Given the description of an element on the screen output the (x, y) to click on. 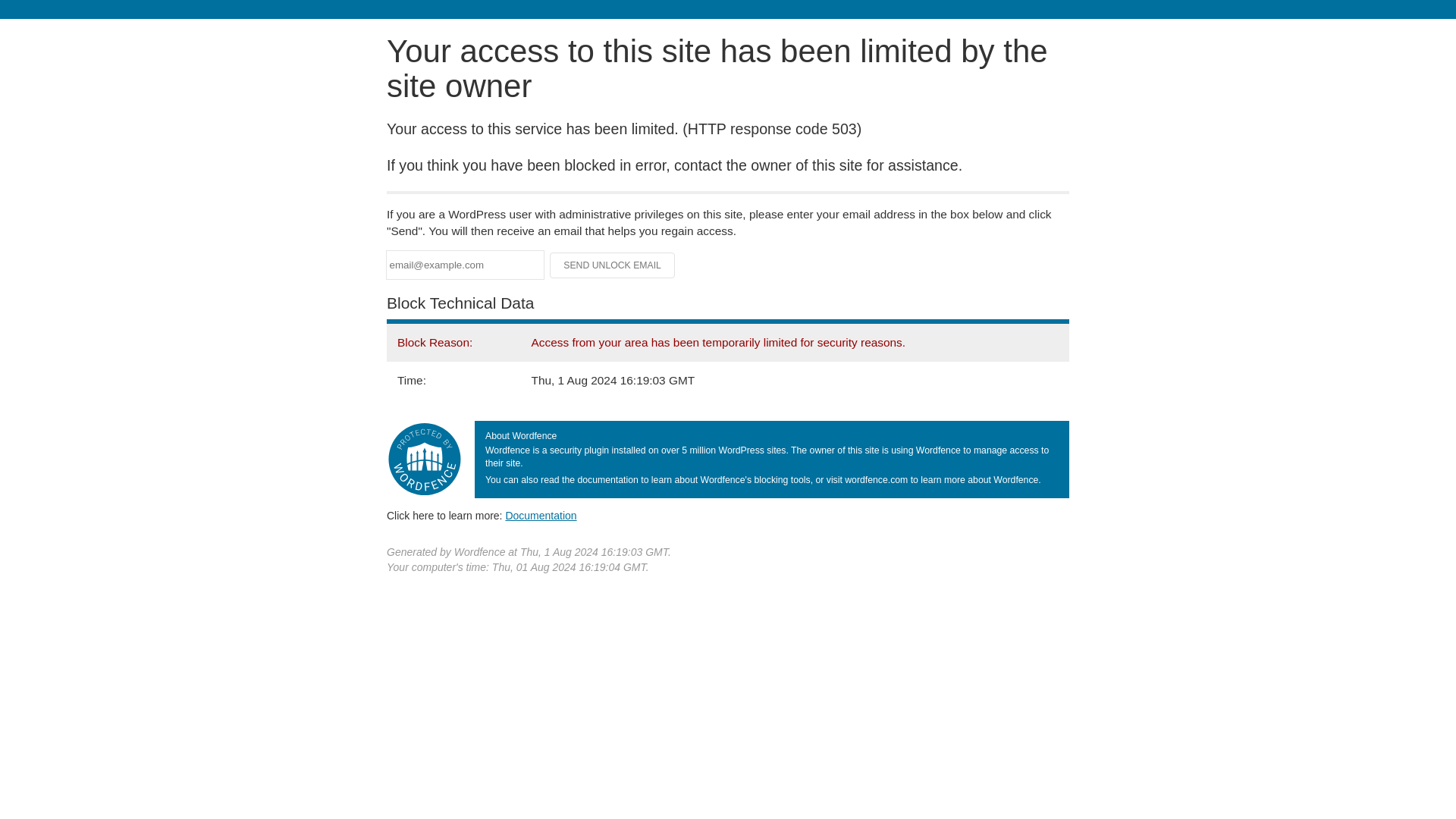
Send Unlock Email (612, 265)
Documentation (540, 515)
Send Unlock Email (612, 265)
